Given the description of an element on the screen output the (x, y) to click on. 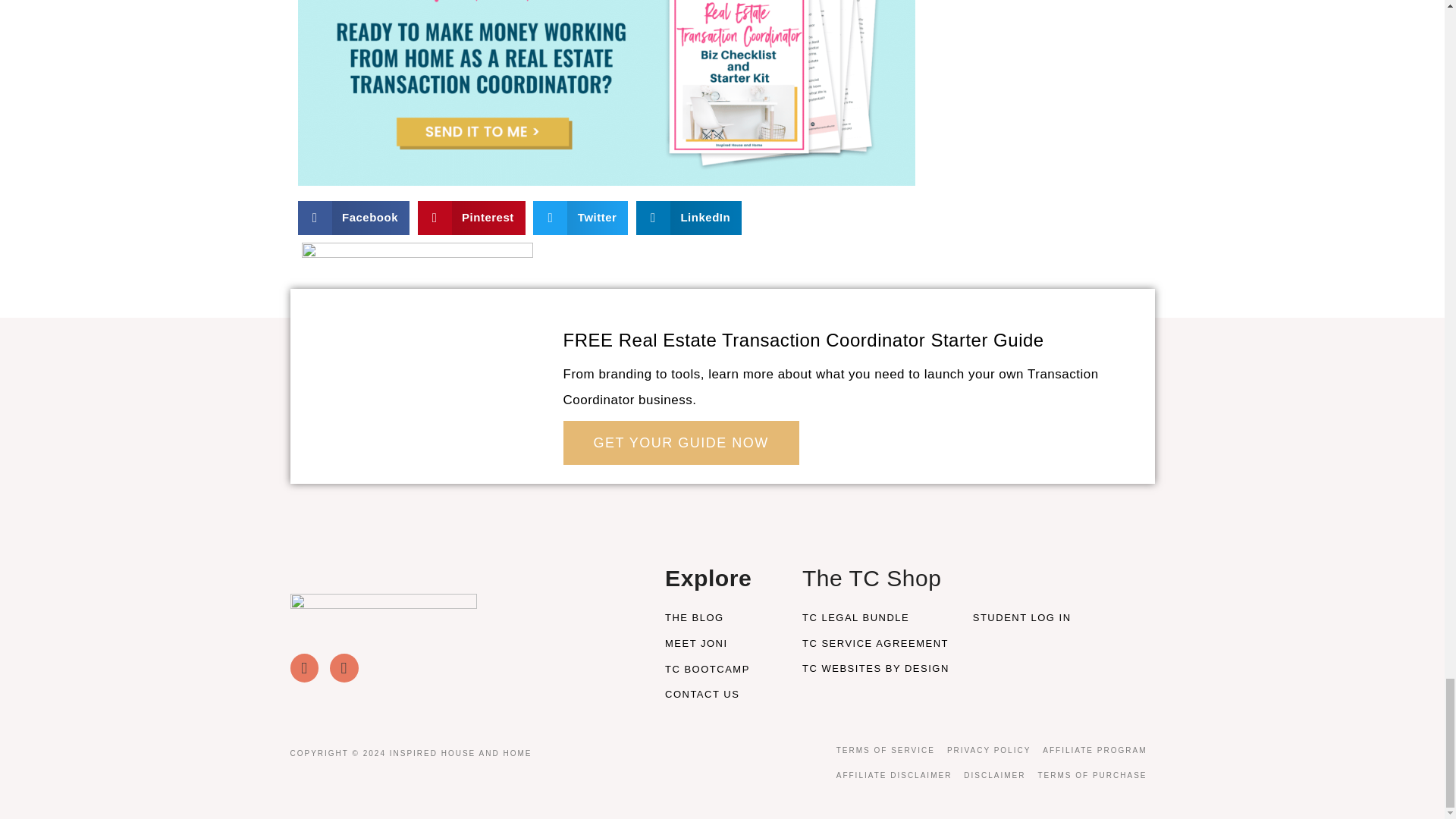
THE BLOG (721, 617)
GET YOUR GUIDE NOW (679, 442)
